Given the description of an element on the screen output the (x, y) to click on. 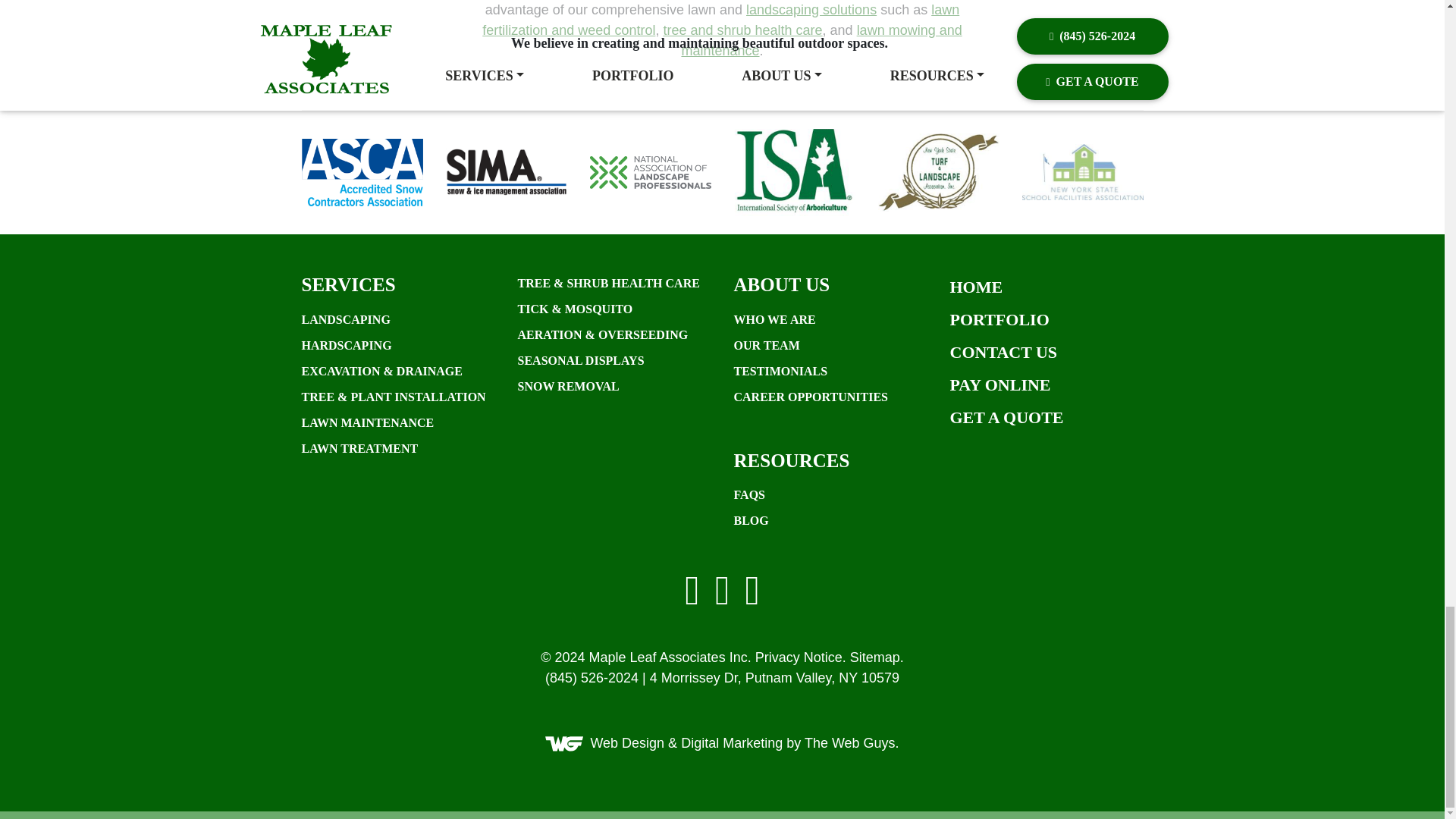
tree and shrub health care (742, 29)
lawn fertilization and weed control (720, 19)
landscaping solutions (810, 9)
